Given the description of an element on the screen output the (x, y) to click on. 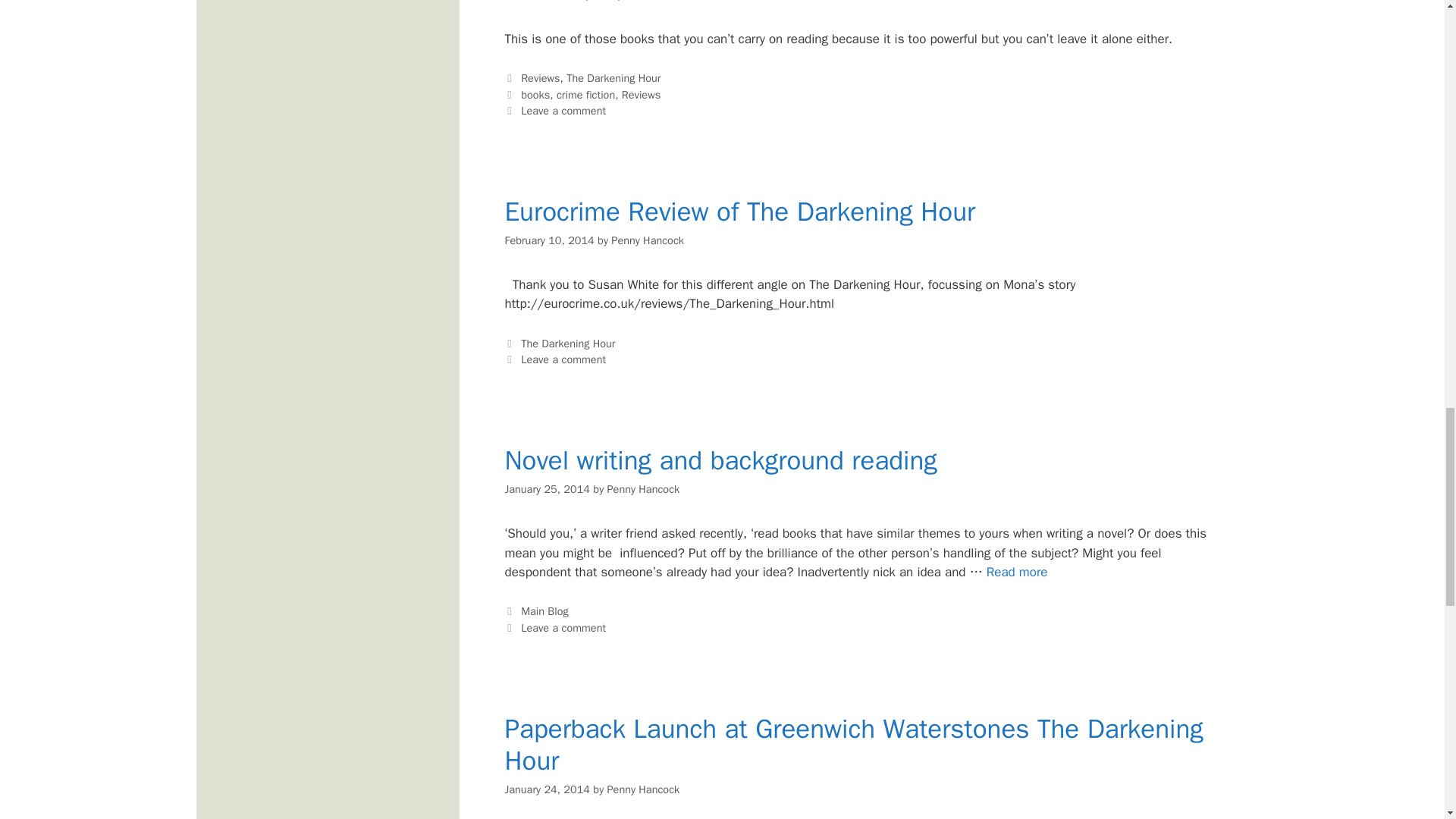
View all posts by Penny Hancock (643, 489)
View all posts by Penny Hancock (647, 240)
Novel writing and background reading (1017, 571)
View all posts by Penny Hancock (643, 789)
View all posts by Penny Hancock (630, 0)
